Given the description of an element on the screen output the (x, y) to click on. 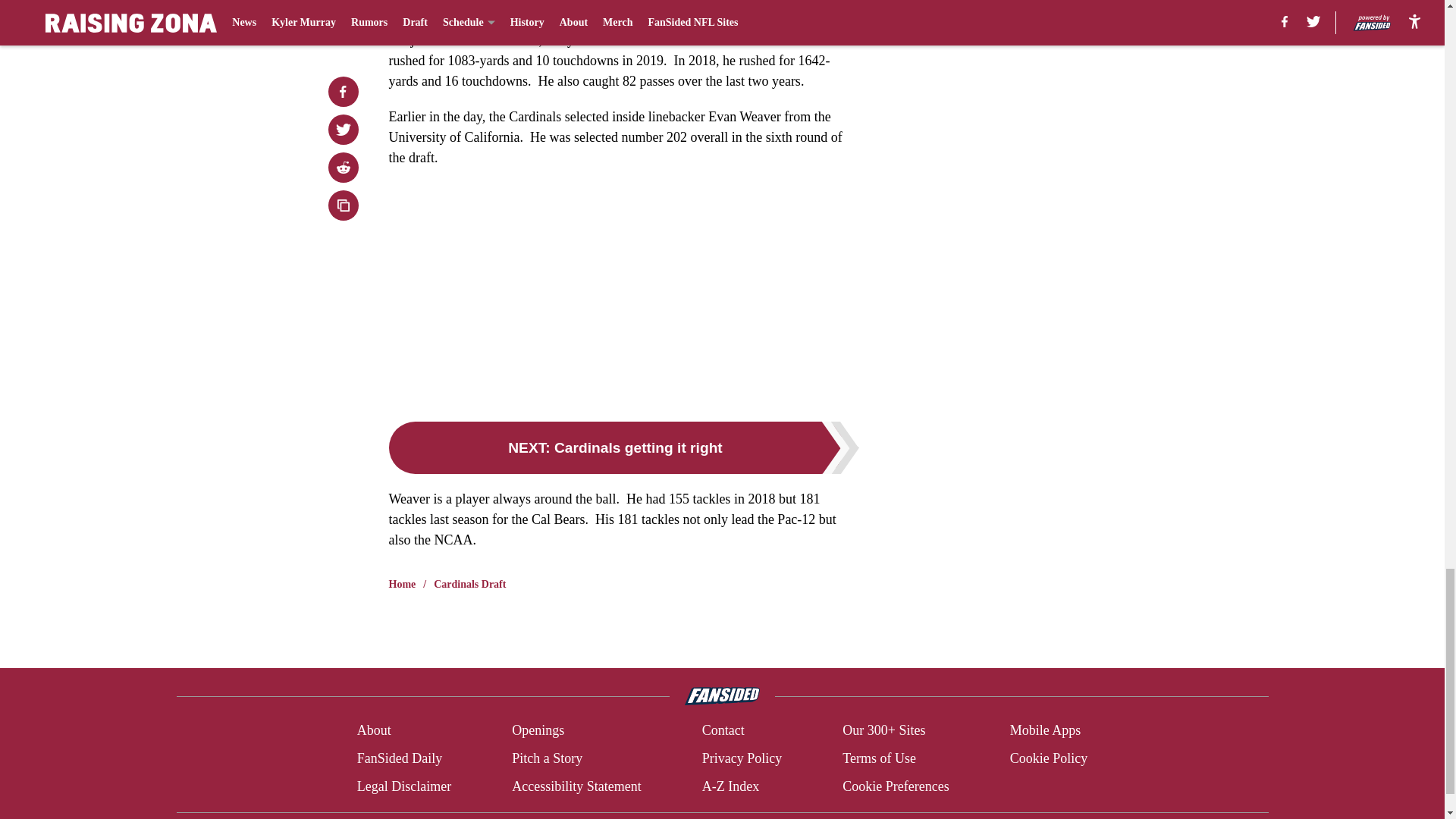
Contact (722, 730)
Openings (538, 730)
NEXT: Cardinals getting it right (623, 447)
Mobile Apps (1045, 730)
Cookie Policy (1048, 758)
Legal Disclaimer (403, 786)
About (373, 730)
Terms of Use (879, 758)
Cardinals Draft (469, 584)
A-Z Index (729, 786)
